Given the description of an element on the screen output the (x, y) to click on. 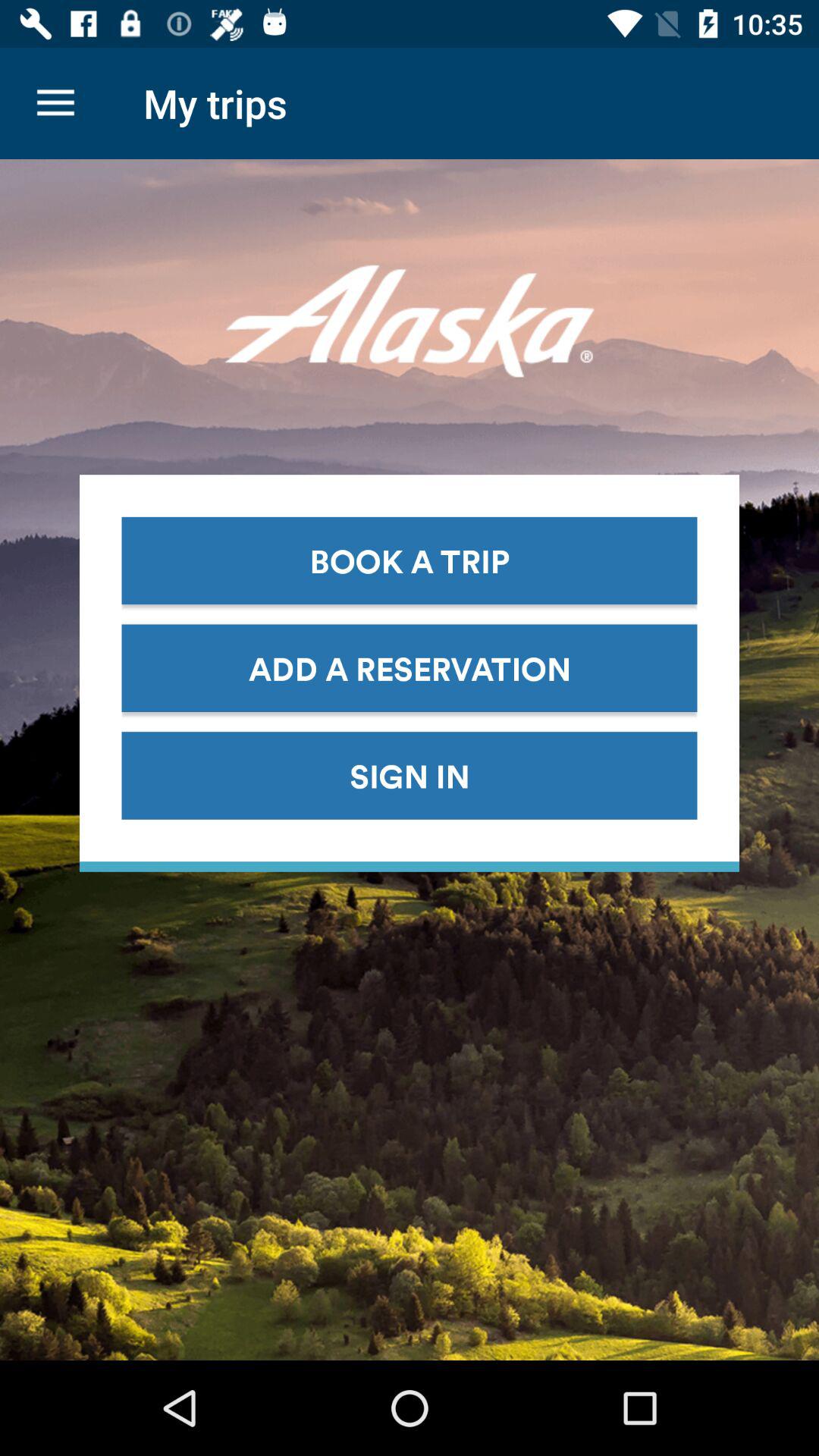
click the add a reservation icon (409, 668)
